Given the description of an element on the screen output the (x, y) to click on. 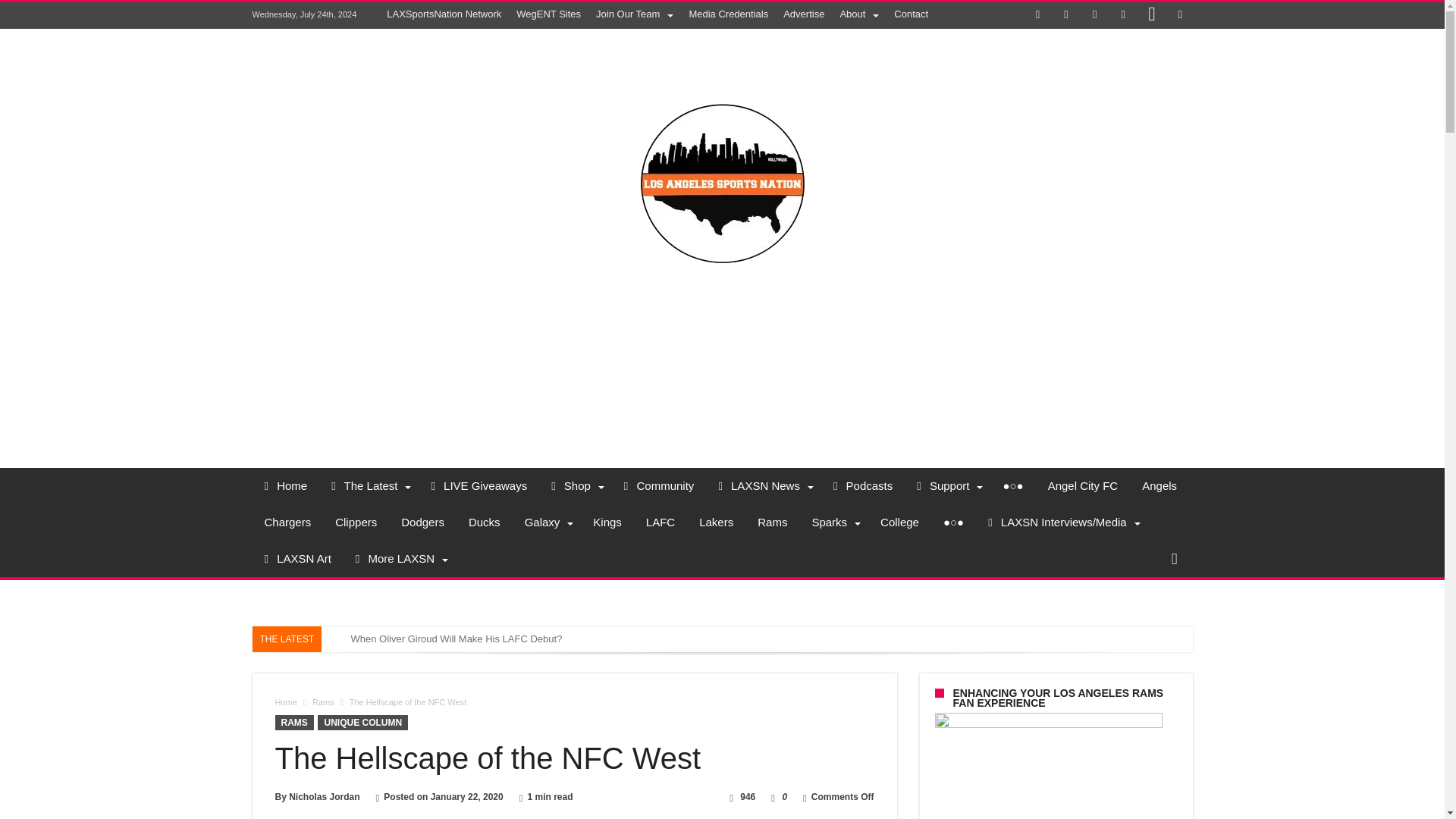
Facebook (1037, 15)
Shop (574, 485)
LAXSN News (763, 485)
Media Credentials (728, 14)
Youtube (1122, 15)
paypal (1179, 15)
About (858, 14)
instagram (1151, 15)
LinkedIn (1094, 15)
Realtime sports scoreboard widget (721, 366)
Community (658, 485)
WegENT Sites (548, 14)
Join Our Team (634, 14)
Podcasts (862, 485)
Twitter (1066, 15)
